Given the description of an element on the screen output the (x, y) to click on. 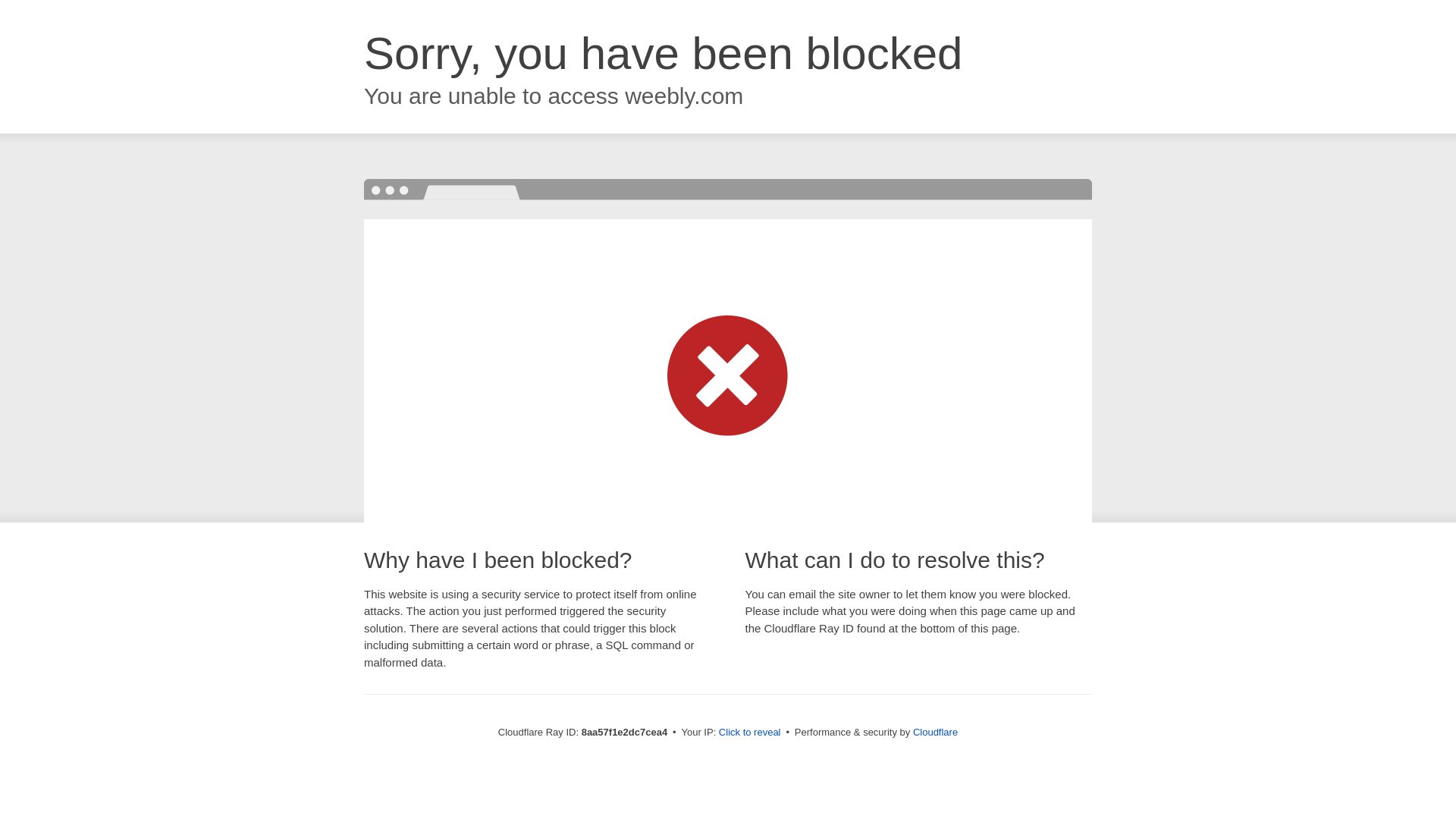
Click to reveal (749, 732)
Cloudflare (935, 731)
